Given the description of an element on the screen output the (x, y) to click on. 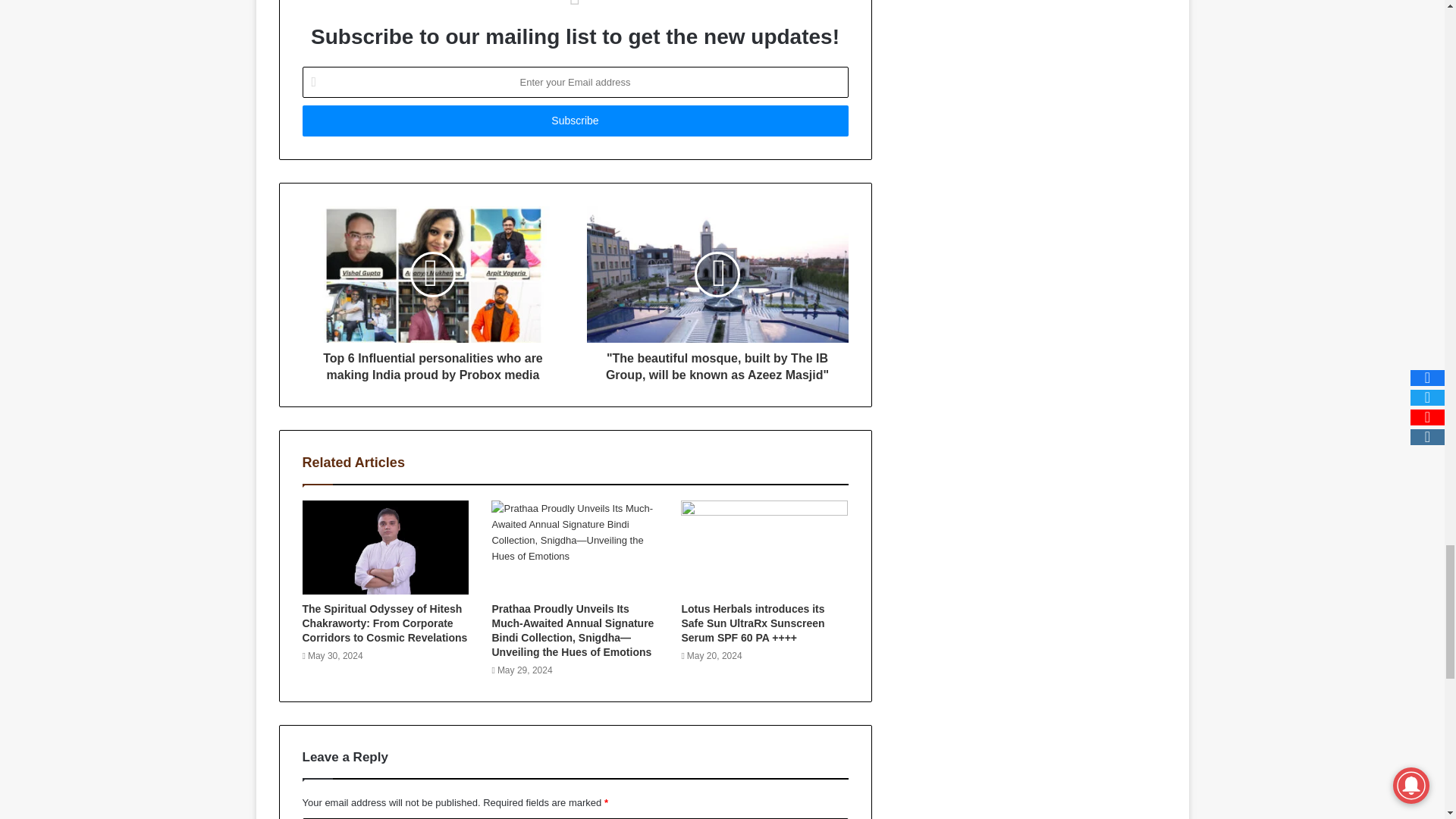
Subscribe (574, 120)
